Given the description of an element on the screen output the (x, y) to click on. 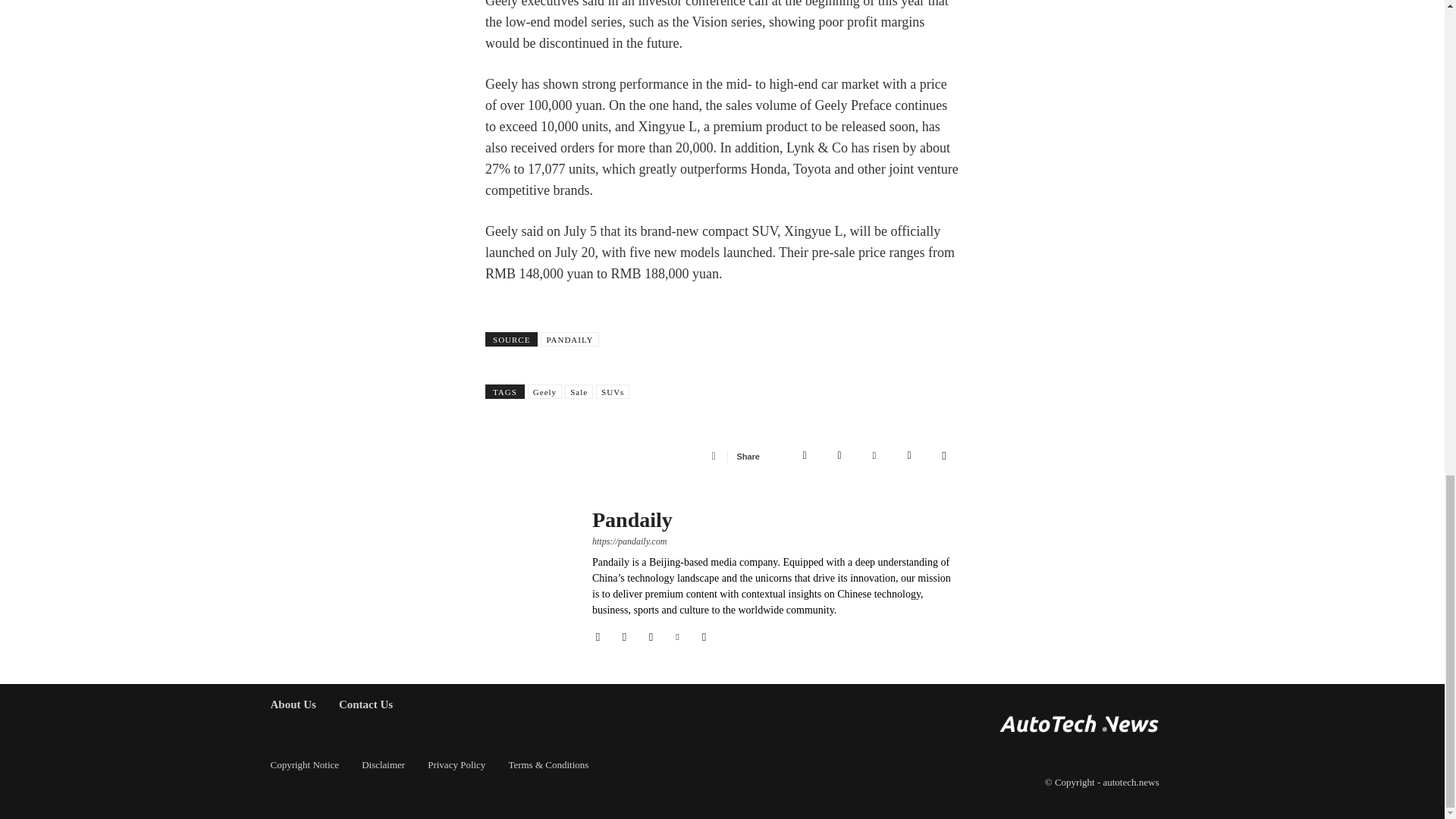
Facebook (804, 455)
Twitter (839, 455)
Pinterest (874, 455)
